Given the description of an element on the screen output the (x, y) to click on. 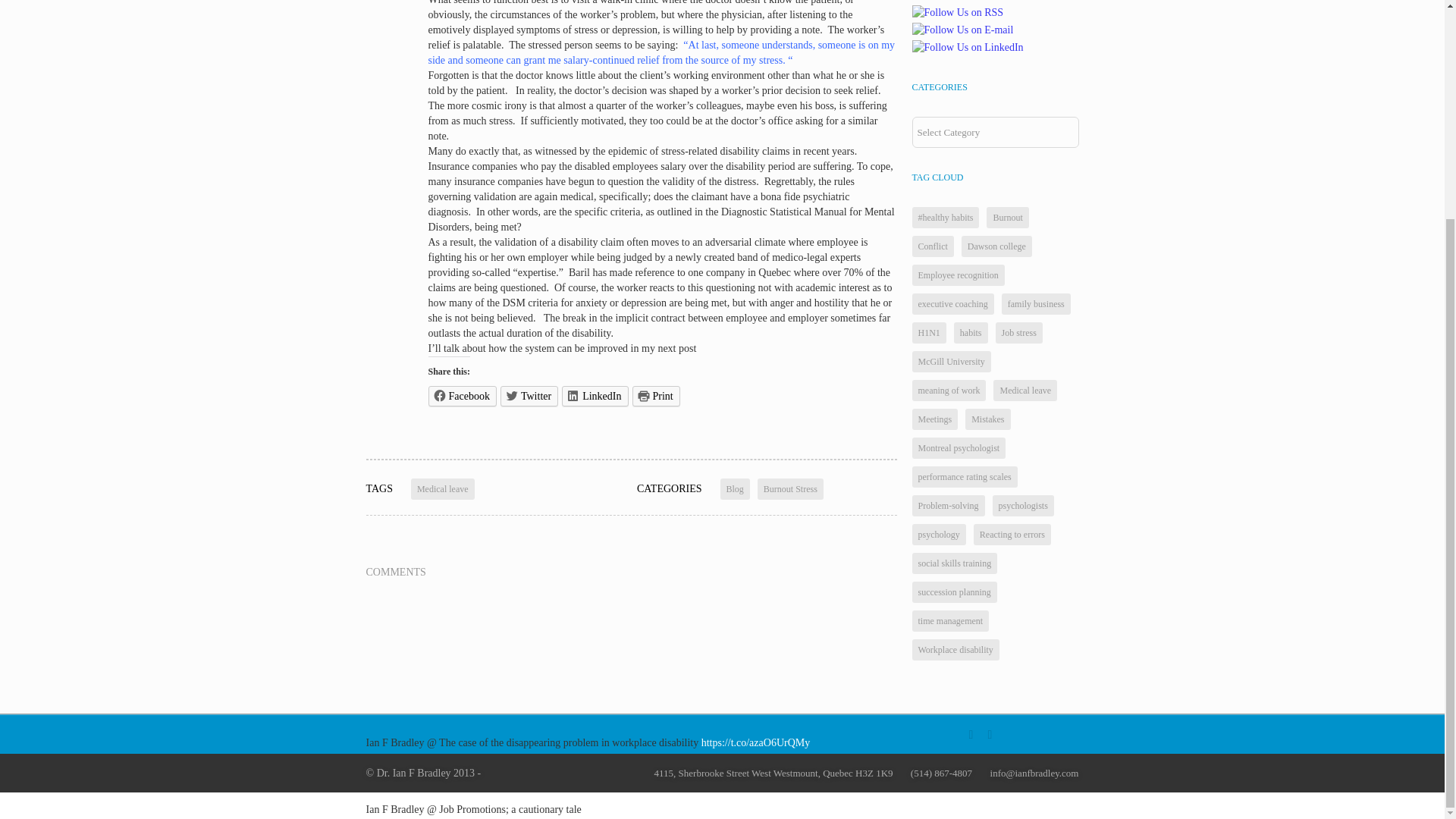
H1N1 (927, 332)
Follow Us on RSS (957, 12)
Follow Us on E-mail (962, 29)
Click to share on LinkedIn (594, 395)
1 topic (996, 246)
Facebook (462, 395)
3 topics (932, 246)
Click to print (655, 395)
Follow Us on Twitter (962, 1)
LinkedIn (594, 395)
